Given the description of an element on the screen output the (x, y) to click on. 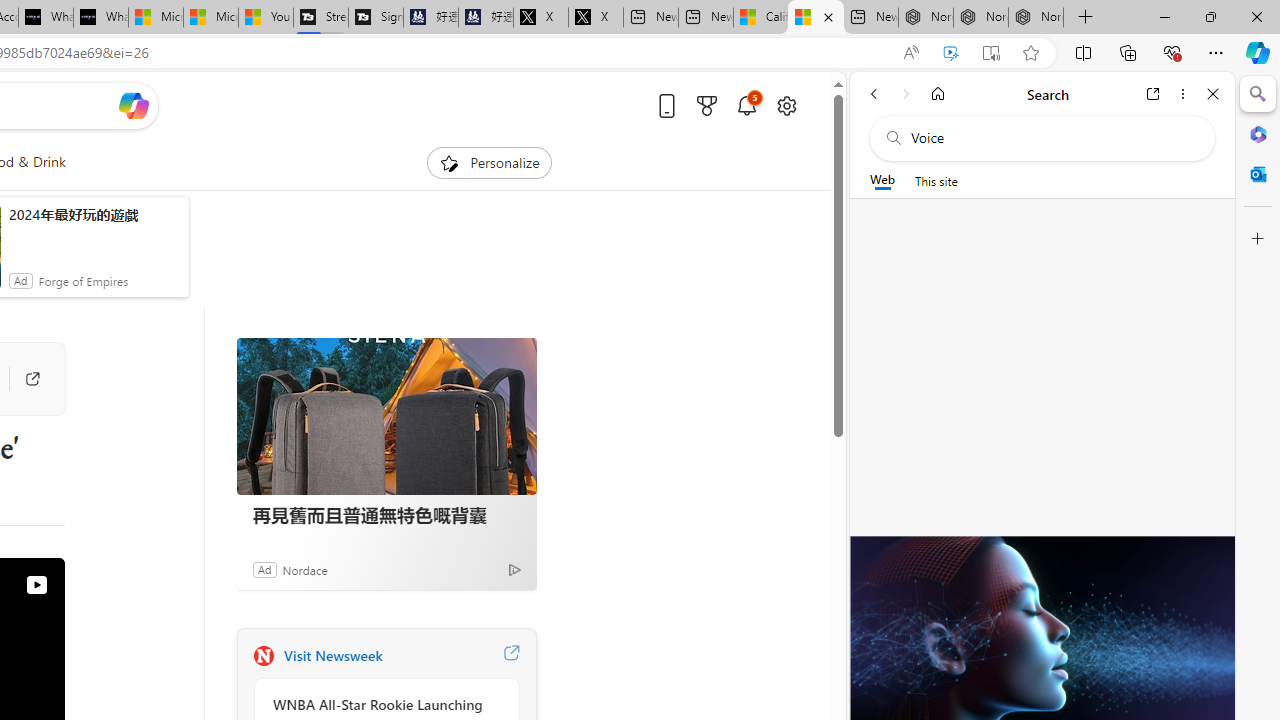
Web scope (882, 180)
Microsoft Start Sports (156, 17)
Forward (906, 93)
Nordace - Best Sellers (925, 17)
Add this page to favorites (Ctrl+D) (1030, 53)
Open settings (786, 105)
This site scope (936, 180)
Newsweek (263, 655)
Microsoft 365 (1258, 133)
Nordace Siena Pro 15 Backpack (980, 17)
Copilot (Ctrl+Shift+.) (1258, 52)
Enter Immersive Reader (F9) (991, 53)
Open Copilot (132, 105)
